Given the description of an element on the screen output the (x, y) to click on. 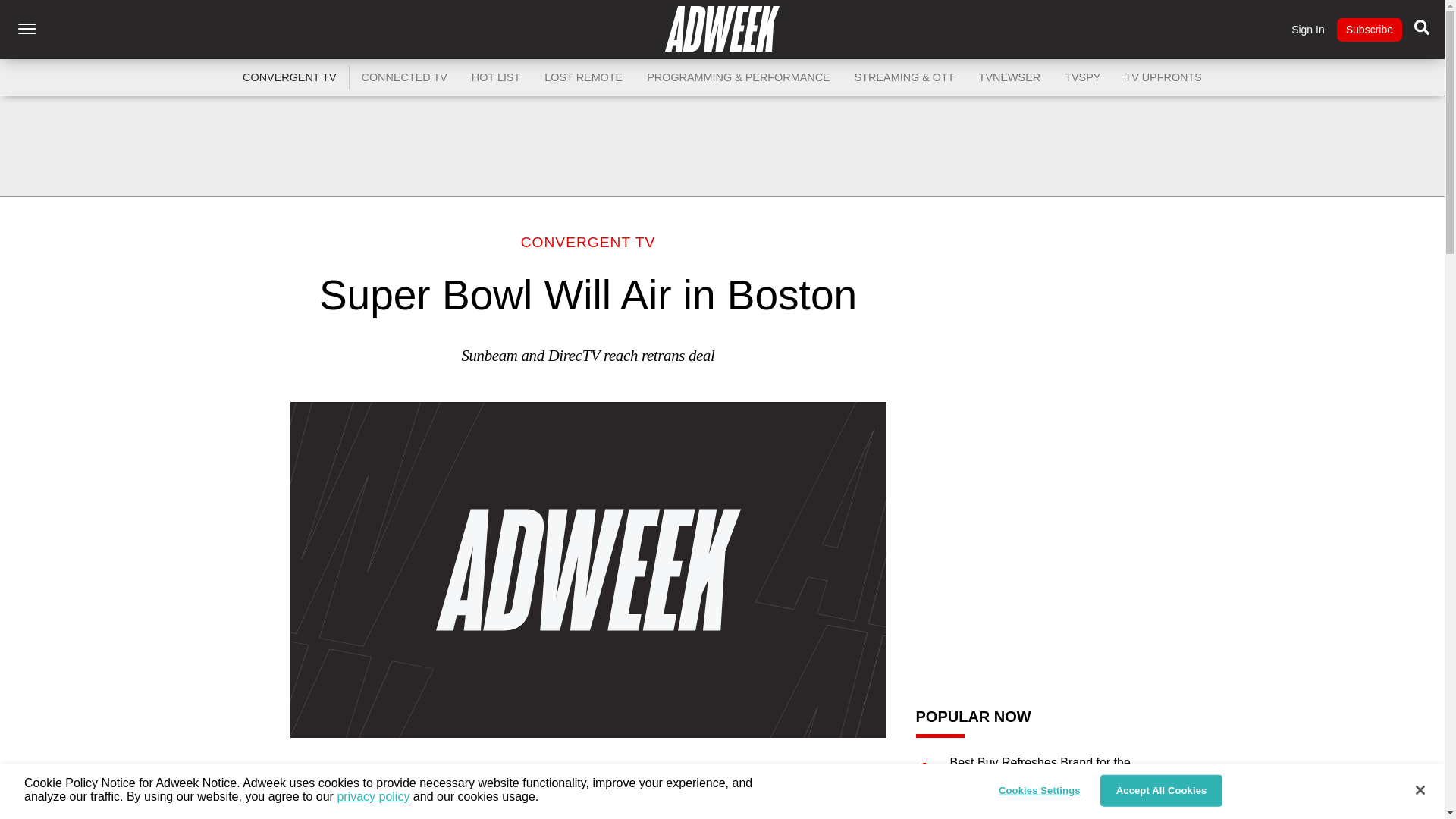
CONNECTED TV (404, 77)
Sign In (1307, 29)
CONVERGENT TV (289, 77)
TVSPY (1082, 77)
TV UPFRONTS (1163, 77)
HOT LIST (496, 77)
Subscribe (1369, 29)
LOST REMOTE (583, 77)
CONVERGENT TV (588, 242)
TVNEWSER (1009, 77)
Toggle Main Menu (26, 28)
Katy Bachman (486, 809)
